Given the description of an element on the screen output the (x, y) to click on. 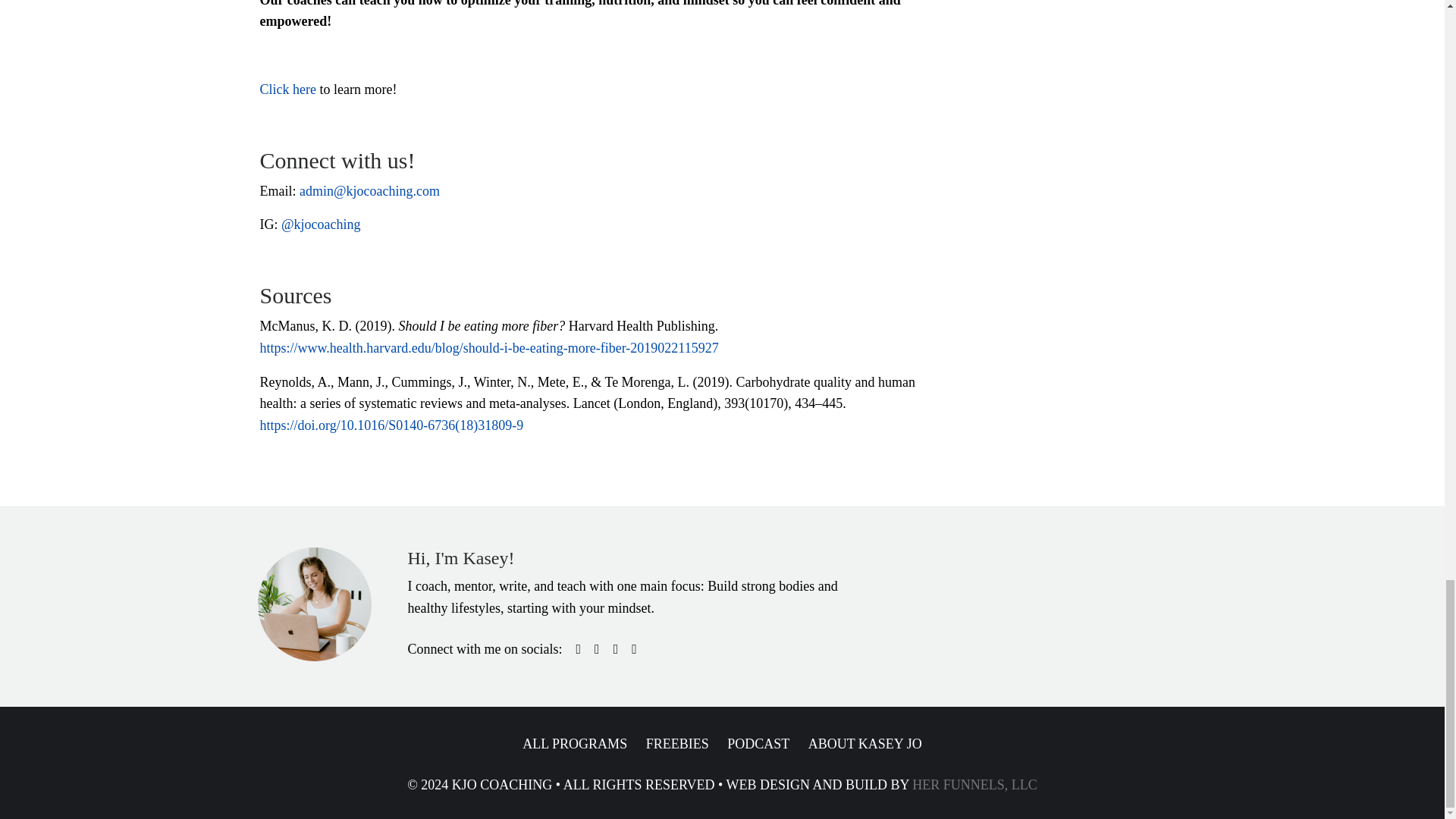
HER FUNNELS, LLC (974, 784)
FREEBIES (677, 743)
Click here (287, 89)
PODCAST (757, 743)
ALL PROGRAMS (574, 743)
ABOUT KASEY JO (864, 743)
